Given the description of an element on the screen output the (x, y) to click on. 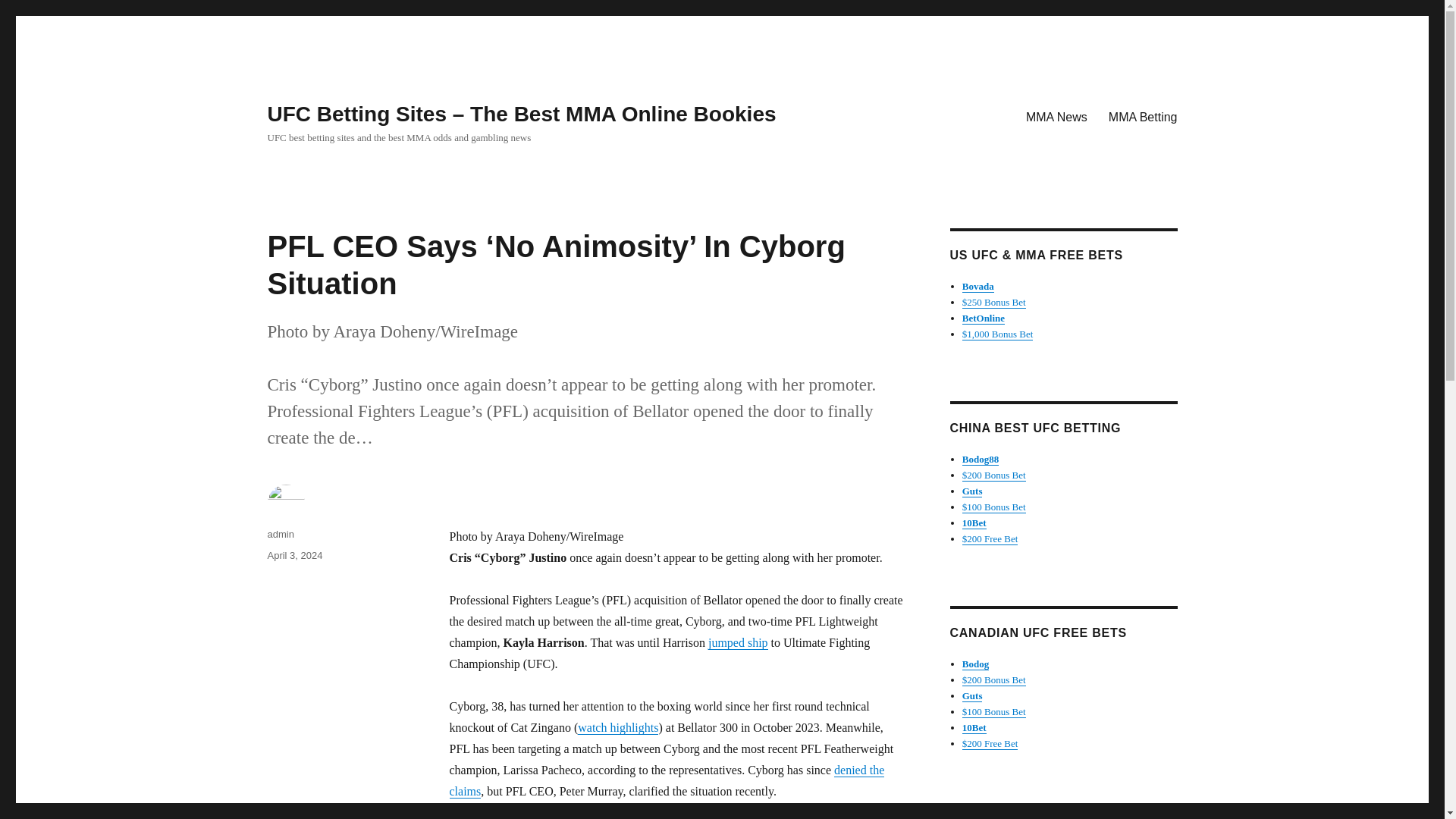
BetOnline (983, 317)
jumped ship (737, 642)
watch highlights (618, 727)
Bodog88 (980, 459)
denied the claims (665, 780)
Guts (972, 490)
MMA Betting (1142, 116)
Bovada (978, 285)
MMA News (1055, 116)
10Bet (974, 522)
